Given the description of an element on the screen output the (x, y) to click on. 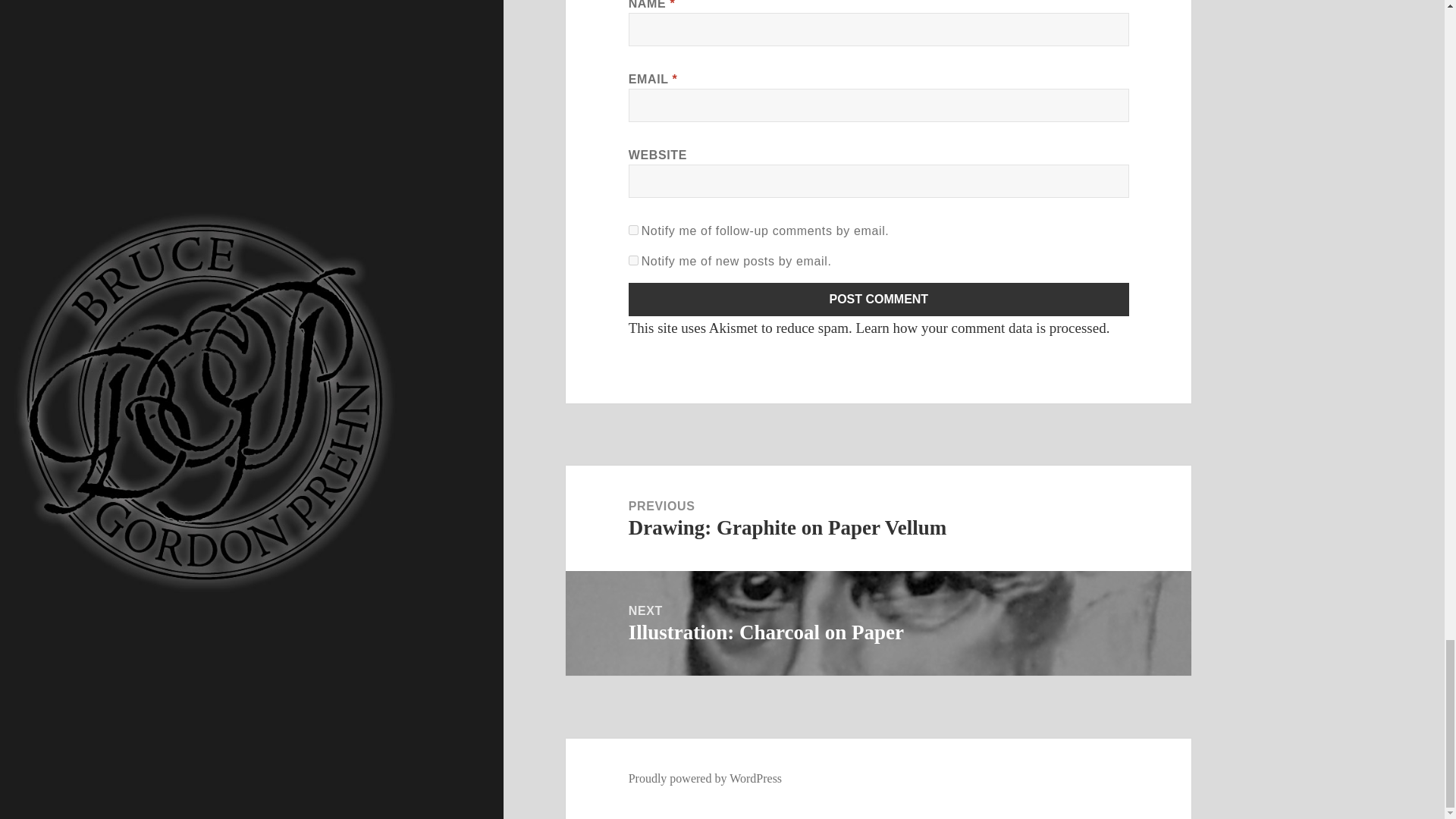
Post Comment (878, 299)
subscribe (633, 260)
subscribe (633, 230)
